Given the description of an element on the screen output the (x, y) to click on. 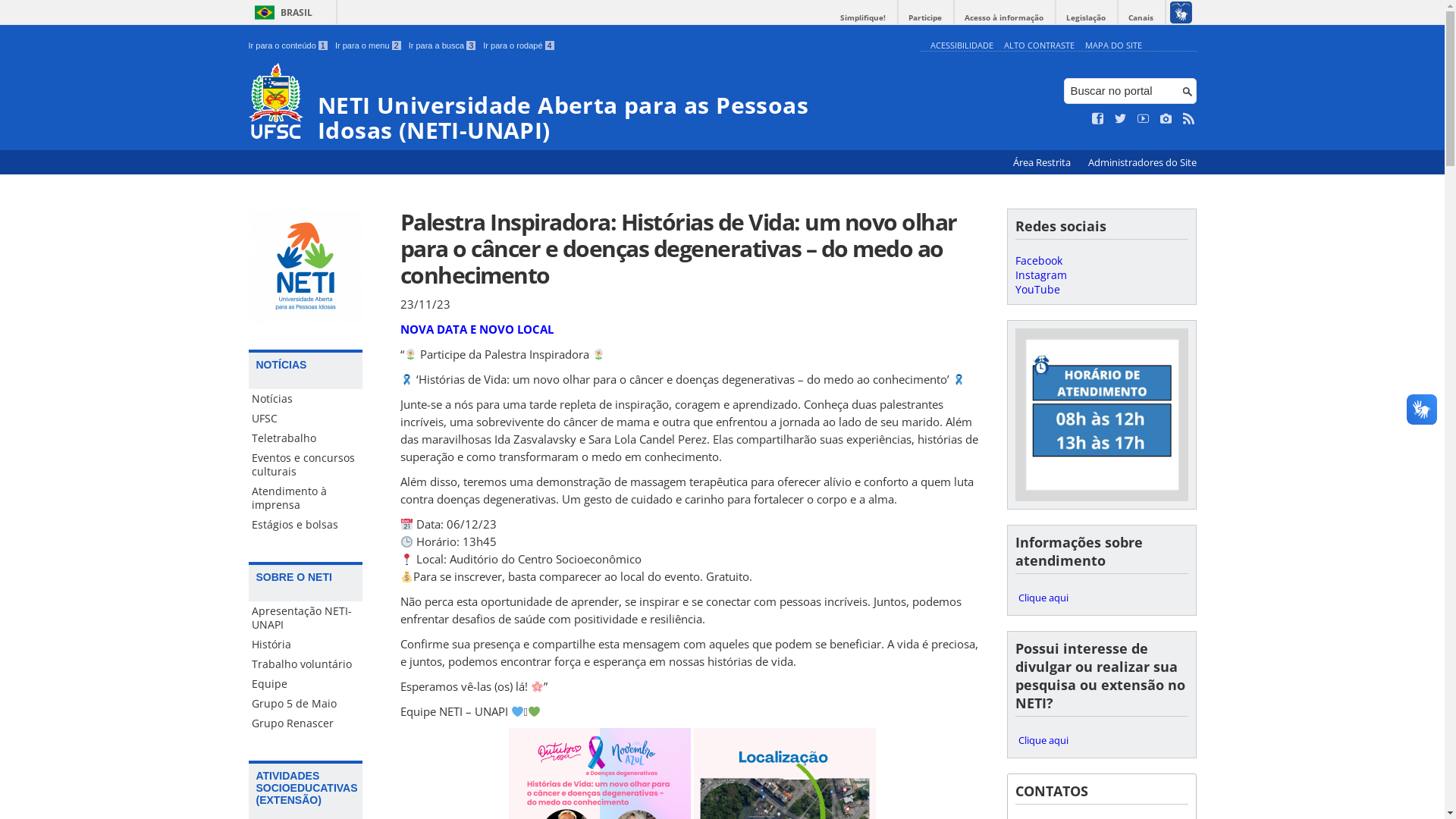
Curta no Facebook Element type: hover (1098, 118)
Administradores do Site Element type: text (1141, 162)
Canais Element type: text (1140, 18)
Clique aqui Element type: text (1100, 597)
Teletrabalho Element type: text (305, 438)
MAPA DO SITE Element type: text (1112, 44)
Eventos e concursos culturais Element type: text (305, 464)
UFSC Element type: text (305, 418)
Participe Element type: text (924, 18)
NETI Universidade Aberta para as Pessoas Idosas (NETI-UNAPI) Element type: text (580, 102)
Grupo Renascer Element type: text (305, 723)
Instagram Element type: text (1040, 274)
ALTO CONTRASTE Element type: text (1039, 44)
Equipe Element type: text (305, 683)
Grupo 5 de Maio Element type: text (305, 703)
Ir para o menu 2 Element type: text (368, 45)
YouTube Element type: text (1036, 289)
Ir para a busca 3 Element type: text (442, 45)
Clique aqui Element type: text (1100, 739)
ACESSIBILIDADE Element type: text (960, 44)
Simplifique! Element type: text (862, 18)
BRASIL Element type: text (280, 12)
Veja no Instagram Element type: hover (1166, 118)
Siga no Twitter Element type: hover (1120, 118)
Facebook Element type: text (1037, 260)
